Given the description of an element on the screen output the (x, y) to click on. 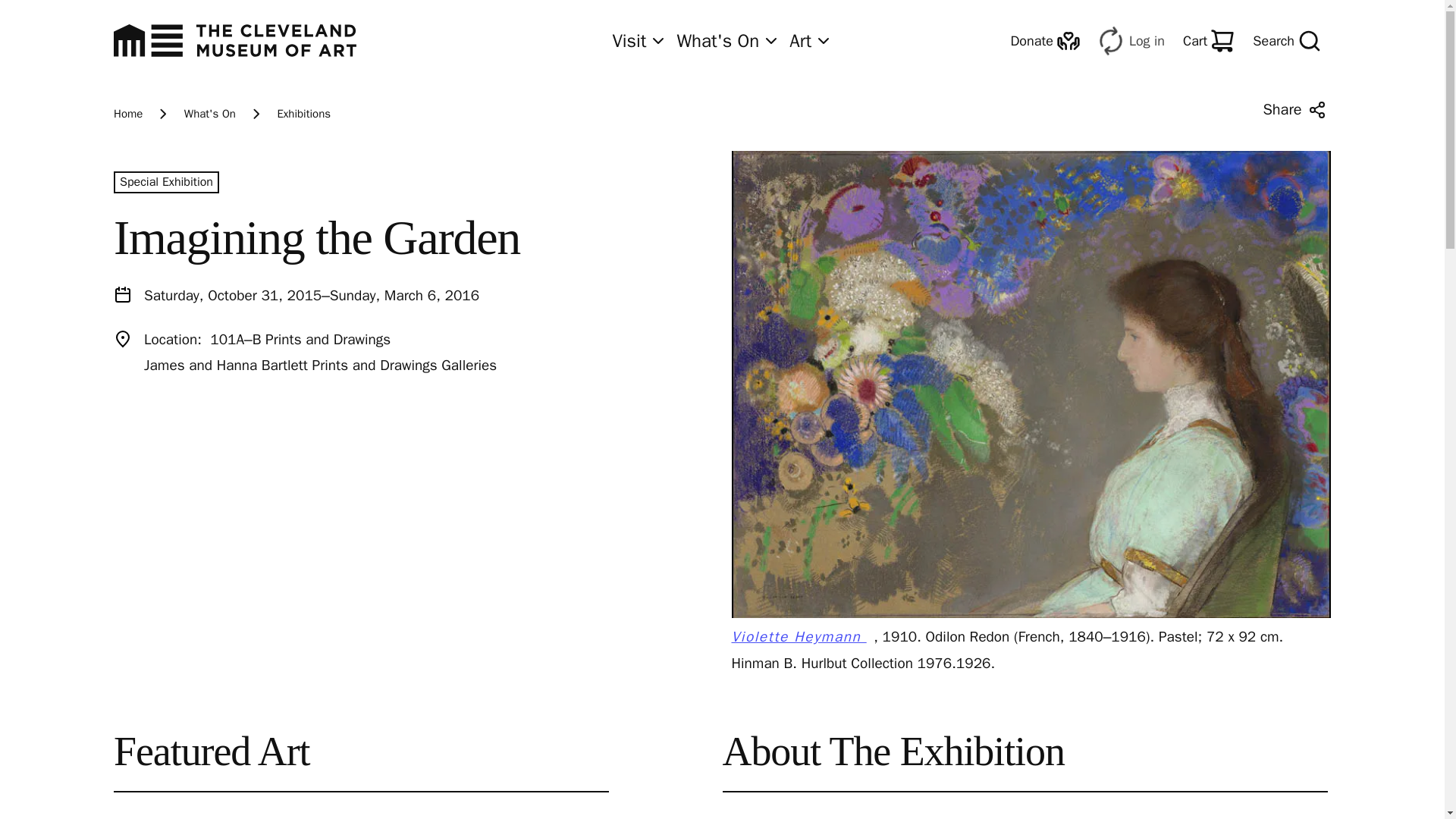
Visit (638, 40)
What's On (728, 40)
Cart (1208, 40)
Art (810, 40)
Donate (1045, 40)
Search (1286, 40)
Violette Heymann (801, 637)
